Given the description of an element on the screen output the (x, y) to click on. 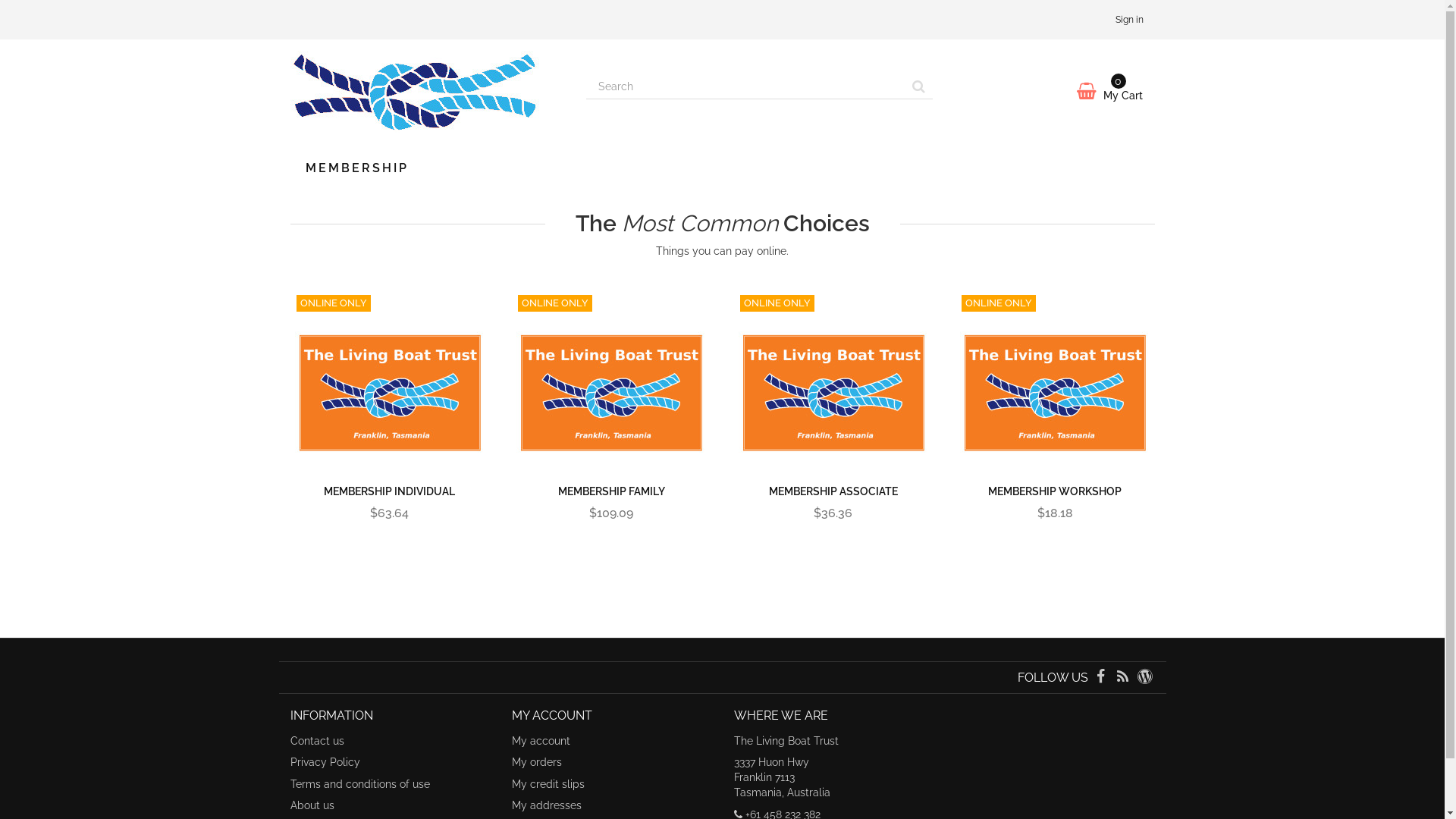
Facebook Element type: hover (1102, 677)
The Living Boat Trust Element type: hover (413, 91)
My Cart
0 Element type: text (1054, 90)
My account Element type: text (540, 740)
Contact us Element type: text (316, 740)
Membership Indivdual Element type: hover (389, 383)
Membership Family Element type: hover (611, 383)
Membership Family Element type: hover (611, 383)
Membership Individual Element type: hover (389, 383)
WordPress Element type: hover (1144, 677)
Sign in Element type: text (1129, 19)
The Living Boat Trust Element type: hover (425, 91)
Search Element type: hover (918, 86)
About us Element type: text (311, 805)
MEMBERSHIP FAMILY Element type: text (611, 491)
Membership Associate Element type: hover (833, 383)
Membership Associate Element type: hover (833, 383)
My orders Element type: text (536, 762)
MEMBERSHIP ASSOCIATE Element type: text (832, 491)
MEMBERSHIP WORKSHOP Element type: text (1054, 491)
My addresses Element type: text (546, 805)
MEMBERSHIP Element type: text (356, 168)
RSS Element type: hover (1124, 677)
My credit slips Element type: text (547, 784)
Membership Workshop Element type: hover (1054, 383)
MEMBERSHIP INDIVIDUAL Element type: text (389, 491)
Terms and conditions of use Element type: text (359, 784)
Membership Workshop Element type: hover (1054, 383)
Privacy Policy Element type: text (324, 762)
